Given the description of an element on the screen output the (x, y) to click on. 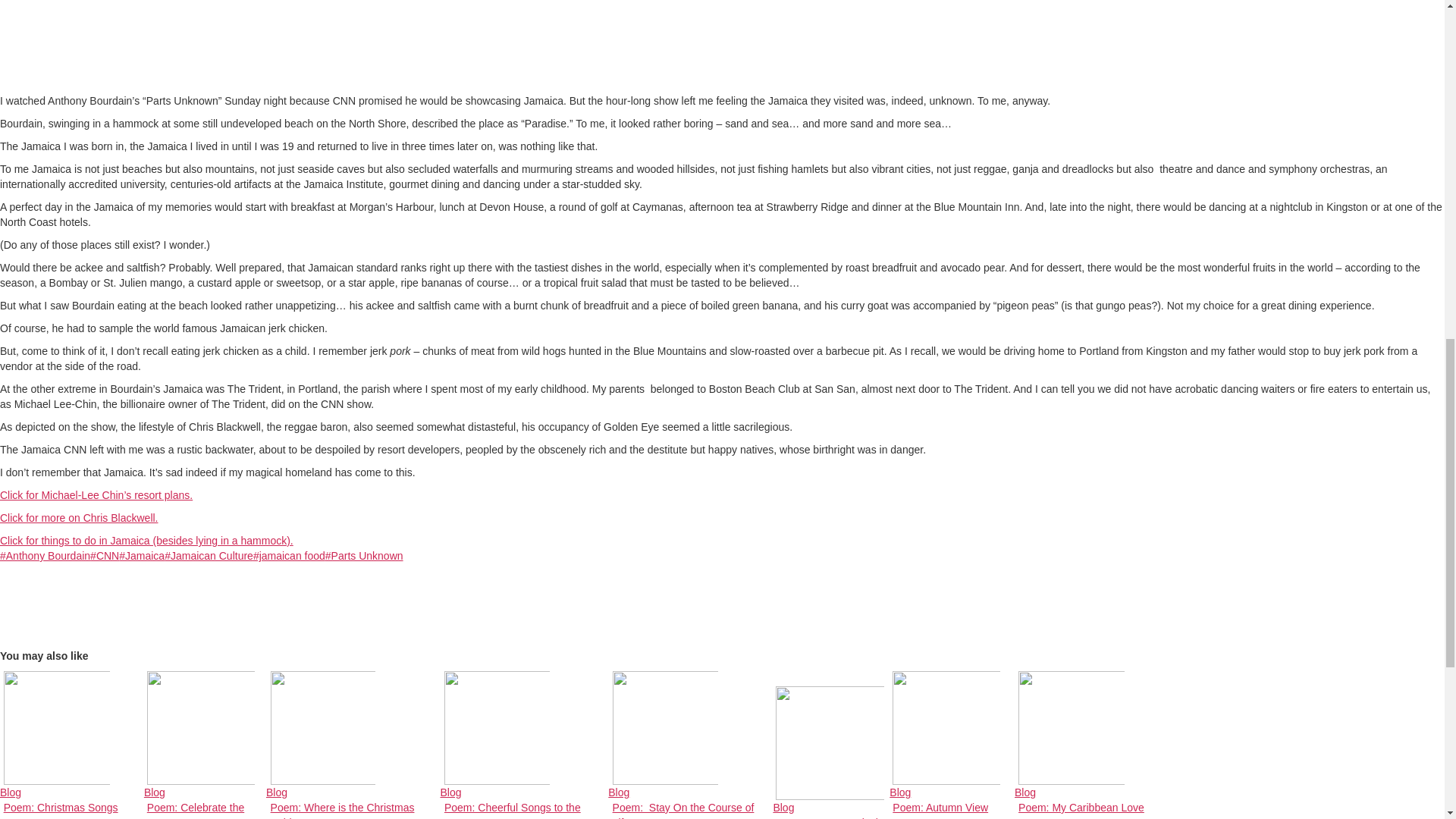
Click for more on Chris Blackwell. (79, 517)
